Given the description of an element on the screen output the (x, y) to click on. 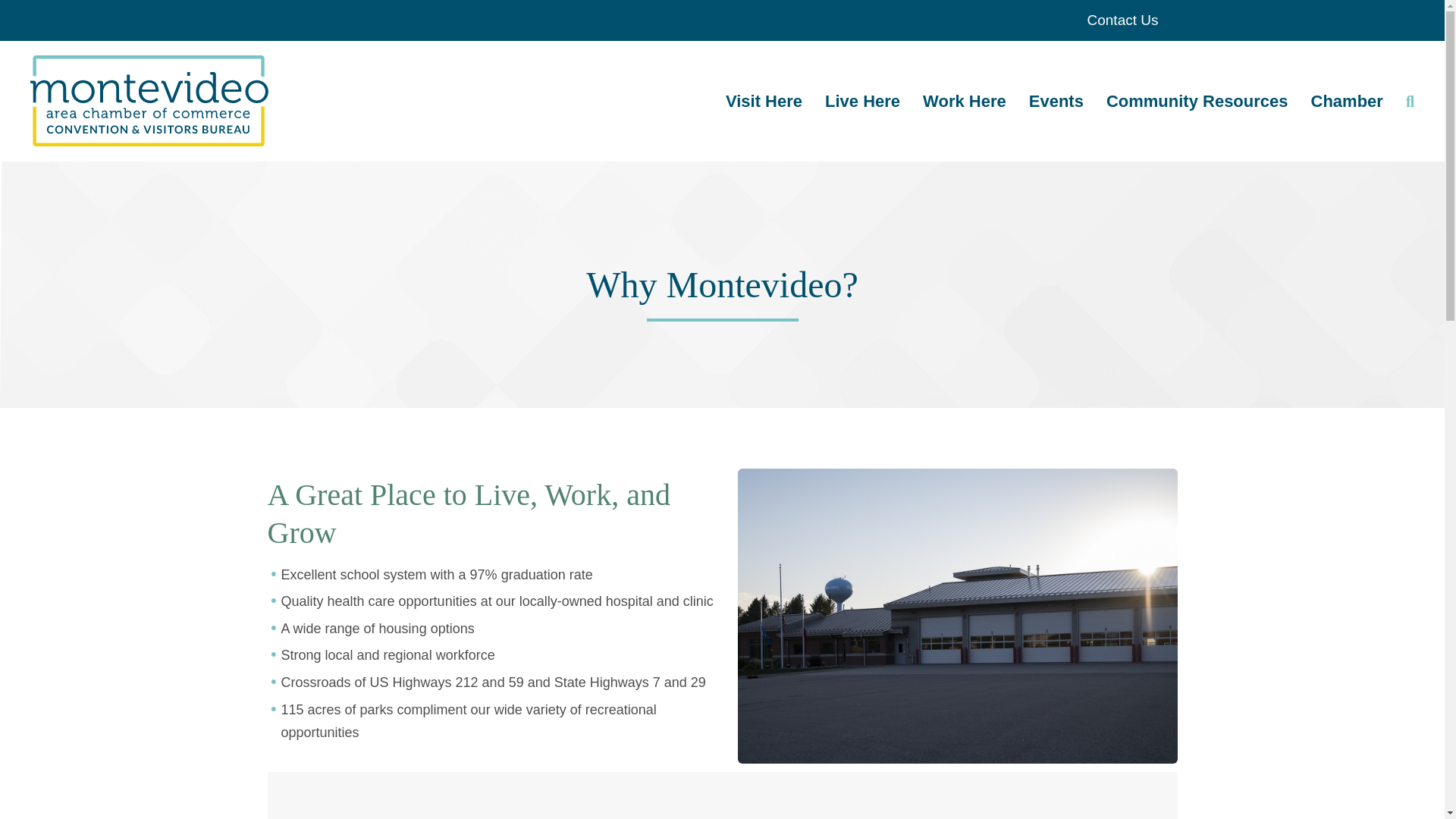
Contact Us (1122, 19)
Chamber (1347, 101)
Live Here (862, 101)
City of Montevideo (156, 101)
Events (1055, 101)
Work Here (964, 101)
Community Resources (1197, 101)
Visit Here (769, 101)
